Given the description of an element on the screen output the (x, y) to click on. 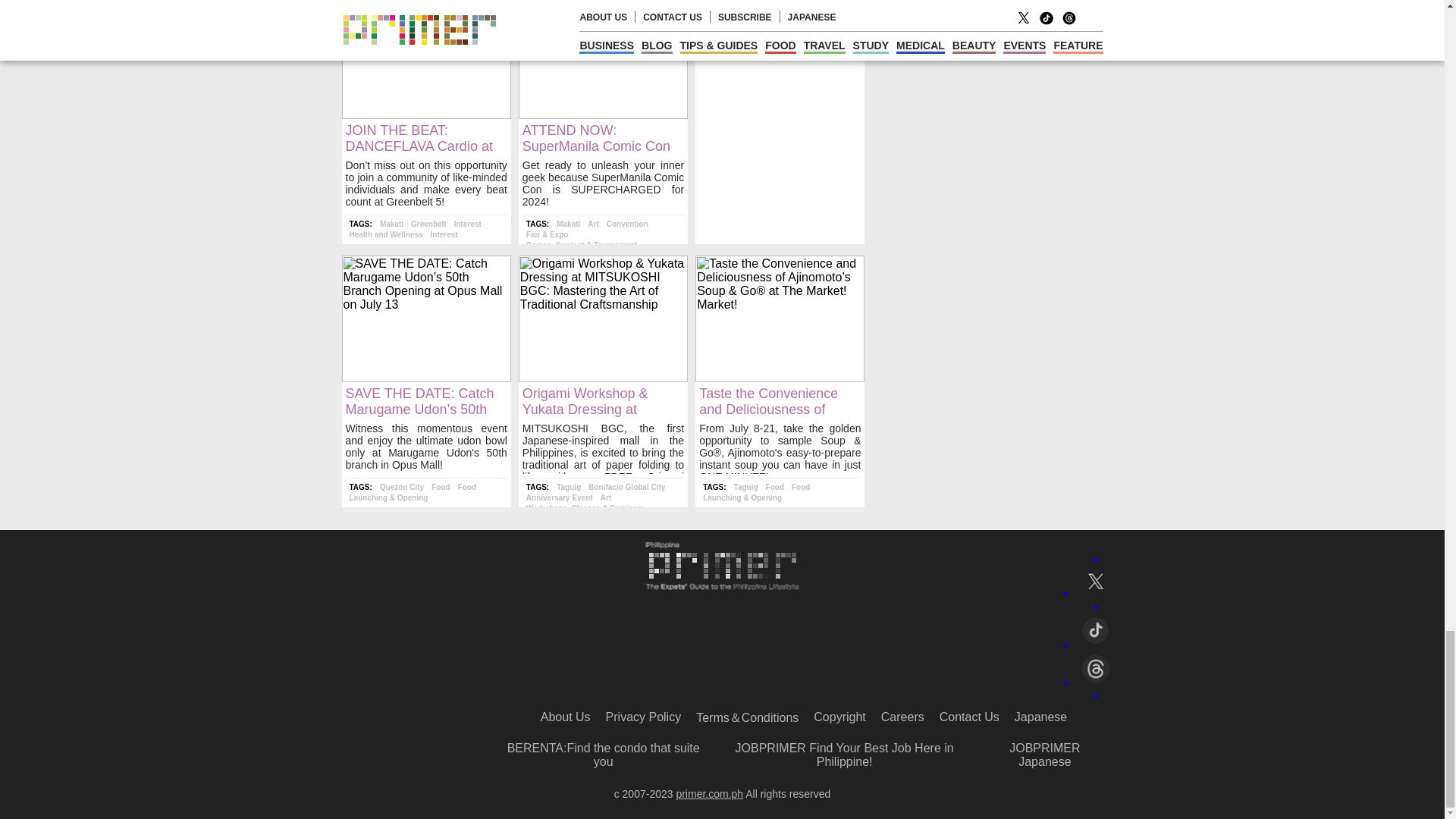
Greenbelt (428, 224)
Makati (391, 224)
